Given the description of an element on the screen output the (x, y) to click on. 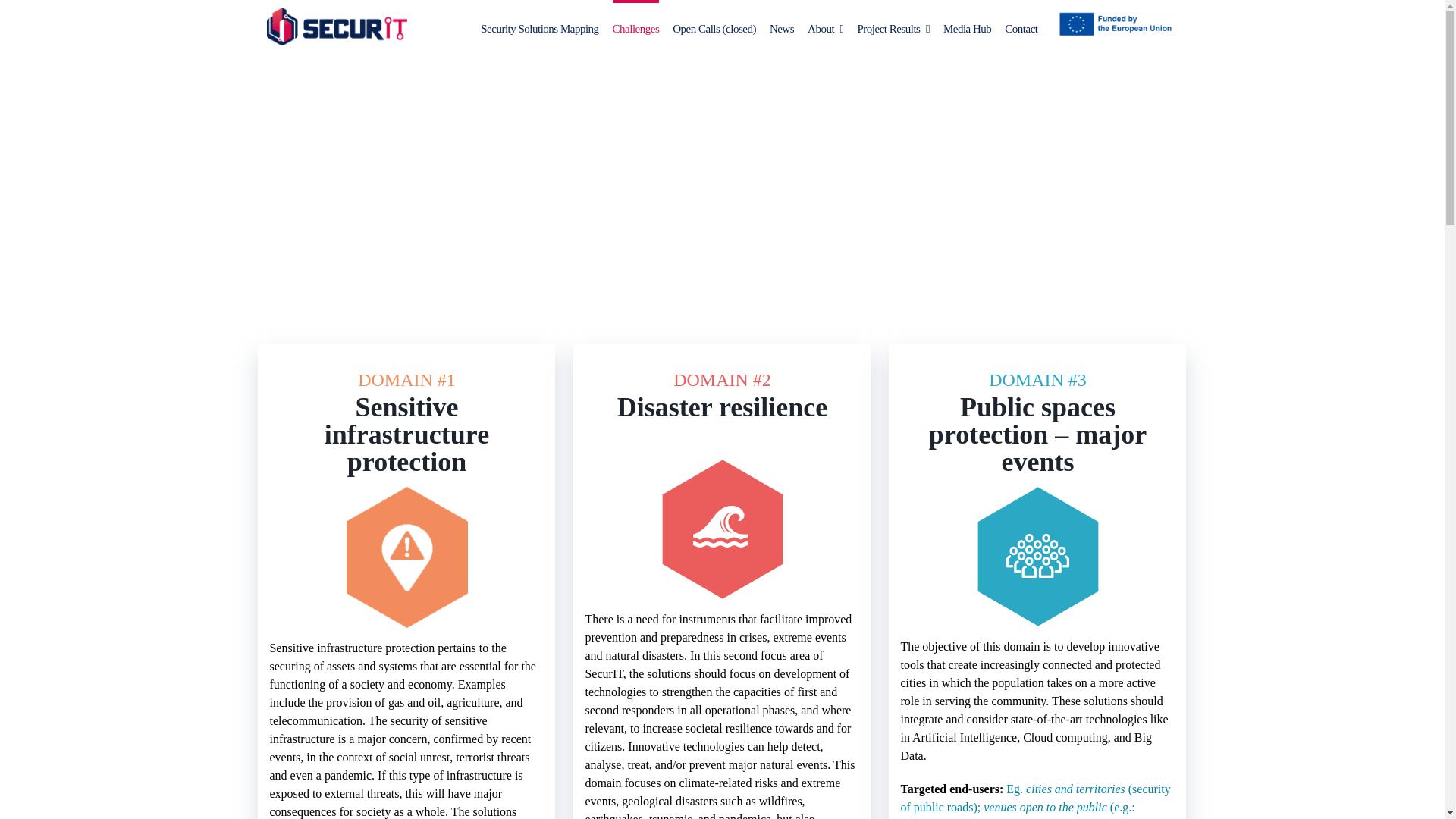
EN-Funded by the EU-PANTONE (1115, 23)
Security Solutions Mapping (539, 22)
Challenges (635, 22)
Media Hub (967, 22)
Project Results (893, 22)
